Given the description of an element on the screen output the (x, y) to click on. 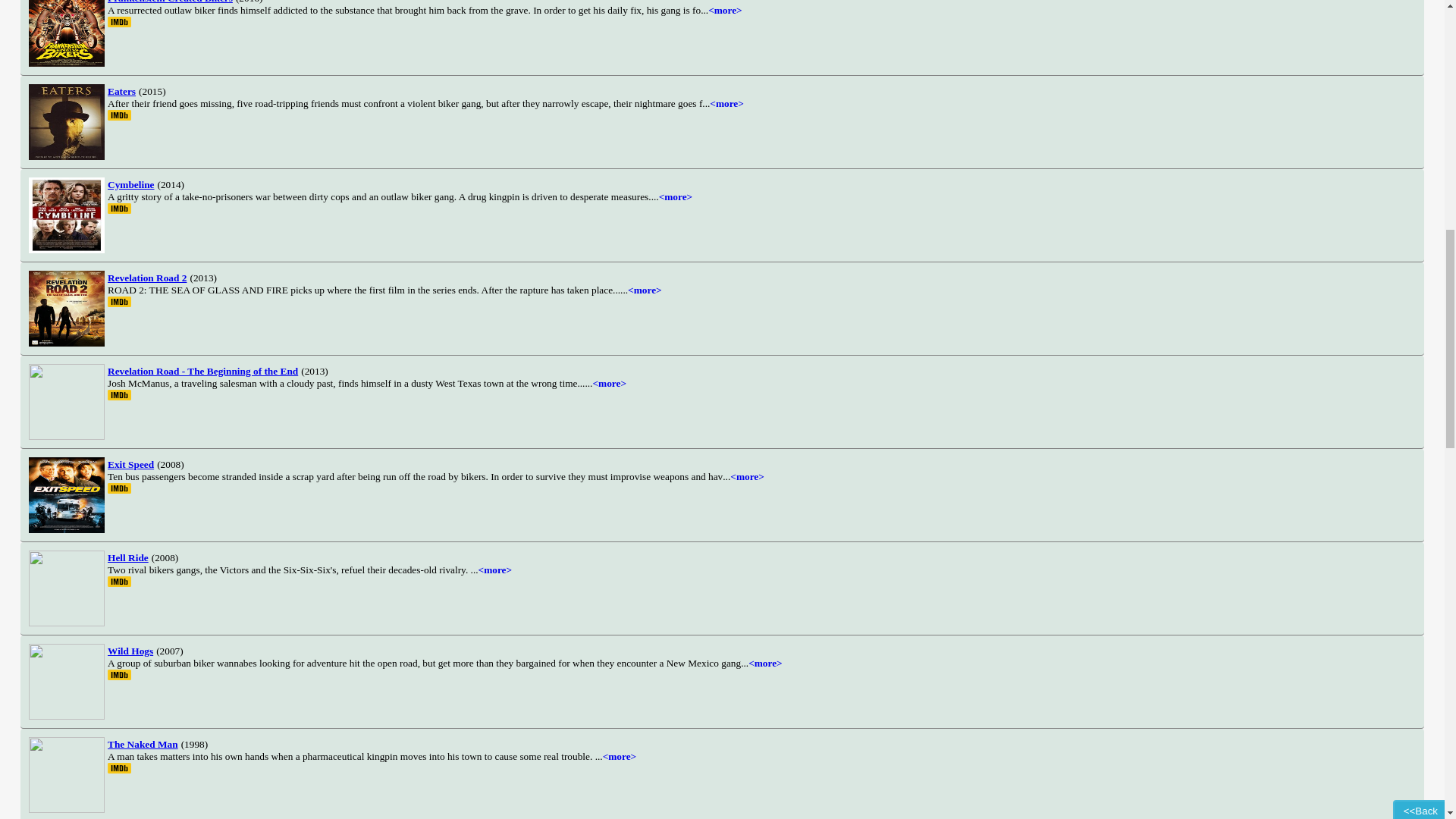
Frankenstein Created Bikers (169, 2)
Cymbeline (130, 183)
Eaters (121, 90)
